Given the description of an element on the screen output the (x, y) to click on. 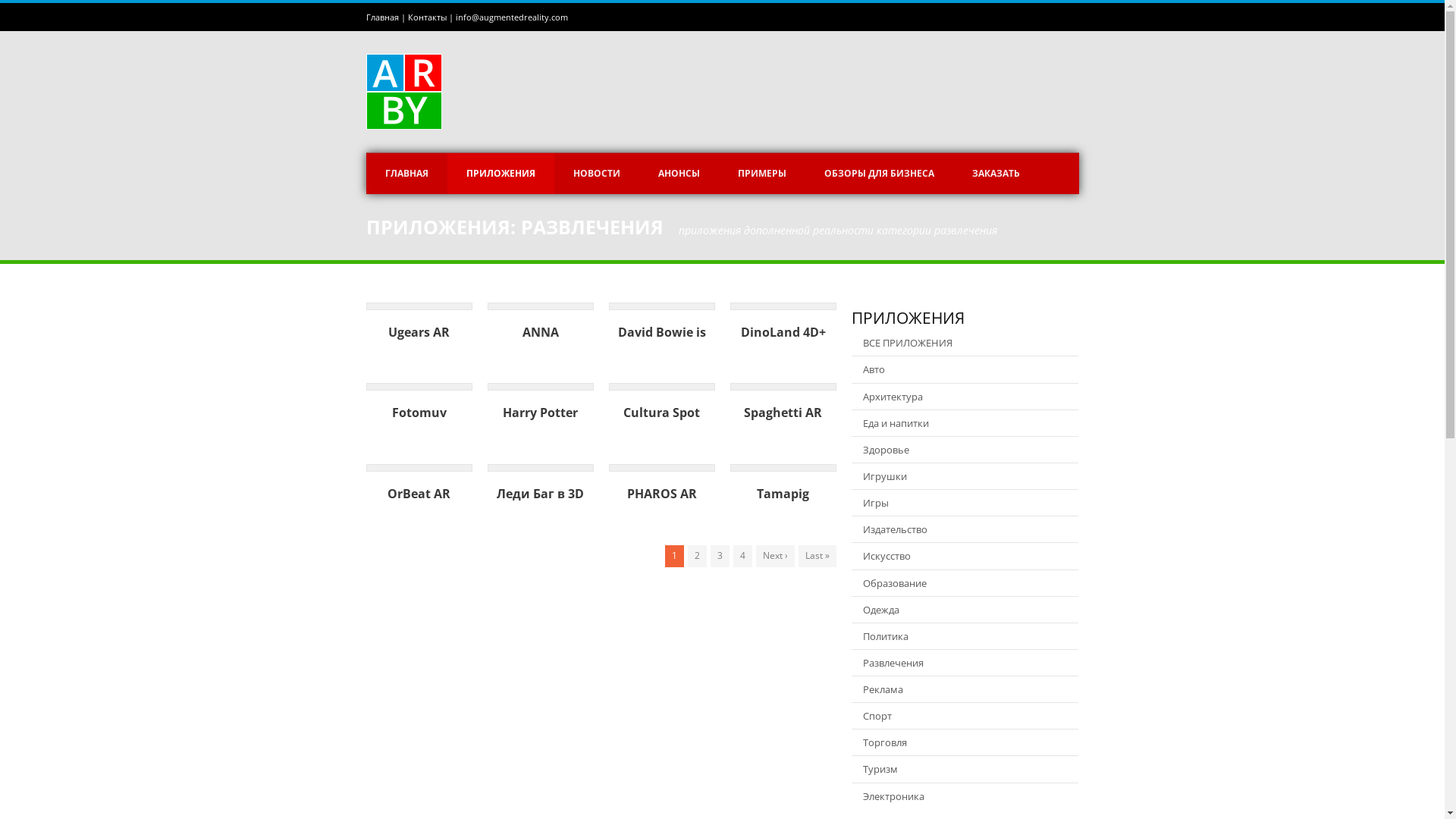
DinoLand 4D+ Element type: text (782, 331)
OrBeat AR Element type: text (418, 493)
info@augmentedreality.com Element type: text (511, 16)
PHAROS AR Element type: text (661, 493)
David Bowie is Element type: text (661, 331)
Cultura Spot Element type: text (661, 412)
Fotomuv Element type: text (418, 412)
Spaghetti AR Element type: text (782, 412)
3 Element type: text (718, 556)
2 Element type: text (696, 556)
ANNA Element type: text (539, 331)
Ugears AR Element type: text (418, 331)
4 Element type: text (741, 556)
Tamapig Element type: text (782, 493)
Harry Potter Element type: text (539, 412)
